Given the description of an element on the screen output the (x, y) to click on. 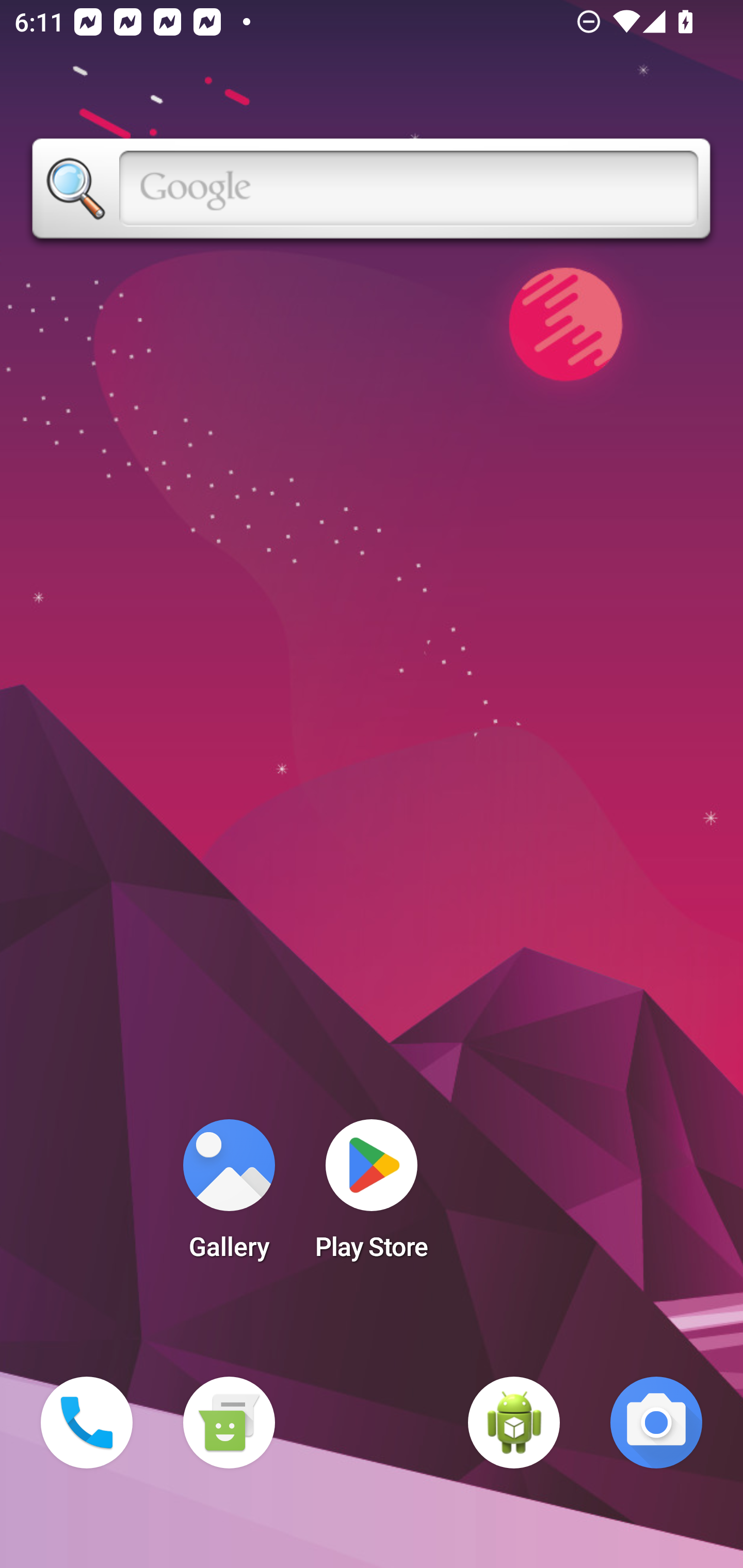
Gallery (228, 1195)
Play Store (371, 1195)
Phone (86, 1422)
Messaging (228, 1422)
WebView Browser Tester (513, 1422)
Camera (656, 1422)
